Given the description of an element on the screen output the (x, y) to click on. 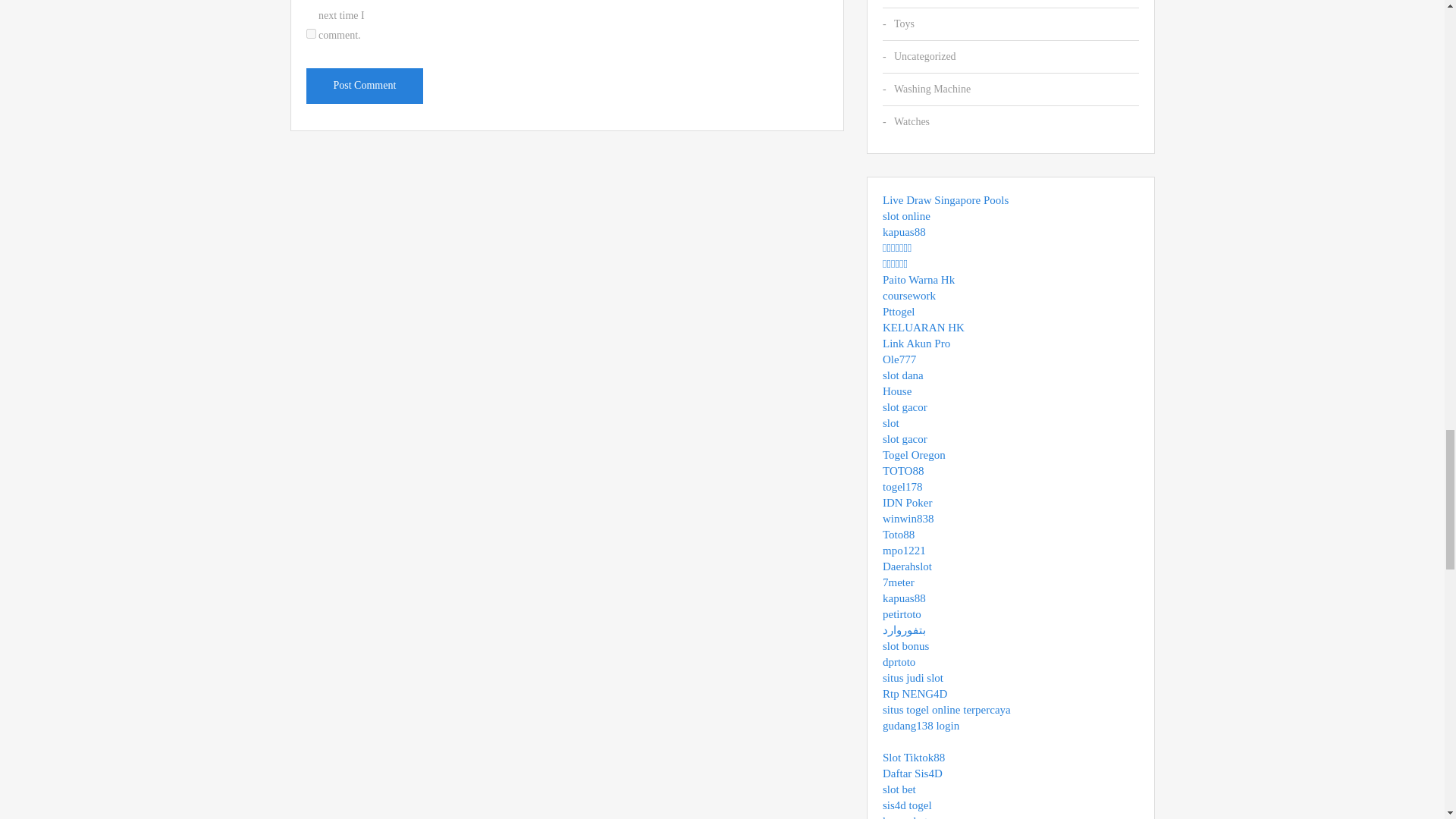
yes (310, 33)
Post Comment (364, 85)
Post Comment (364, 85)
